Given the description of an element on the screen output the (x, y) to click on. 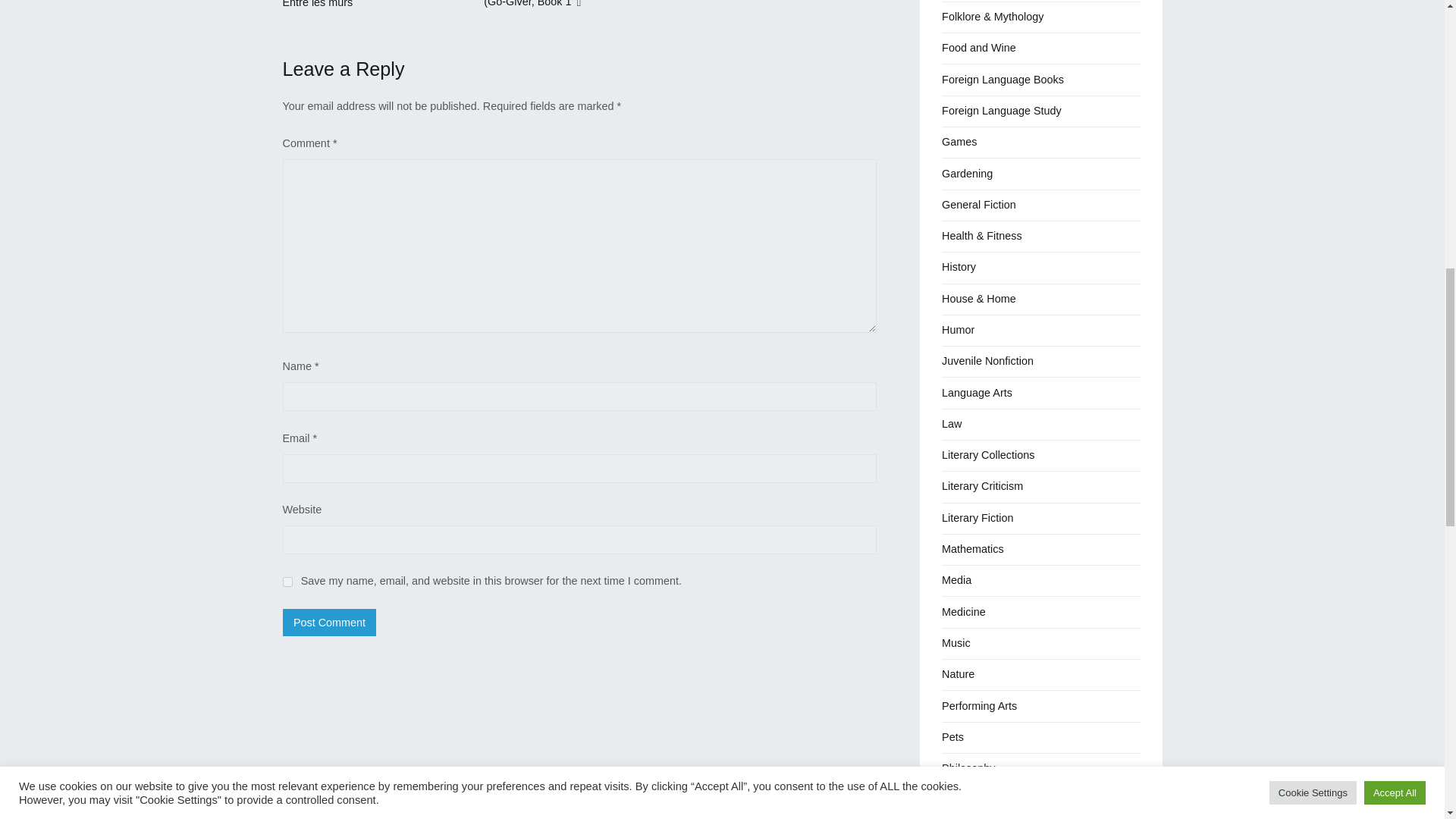
Post Comment (328, 622)
yes (287, 582)
Food and Wine (979, 48)
Modern Languages Study Guides: Entre les murs (369, 3)
Fantasy (960, 0)
Post Comment (328, 622)
